Given the description of an element on the screen output the (x, y) to click on. 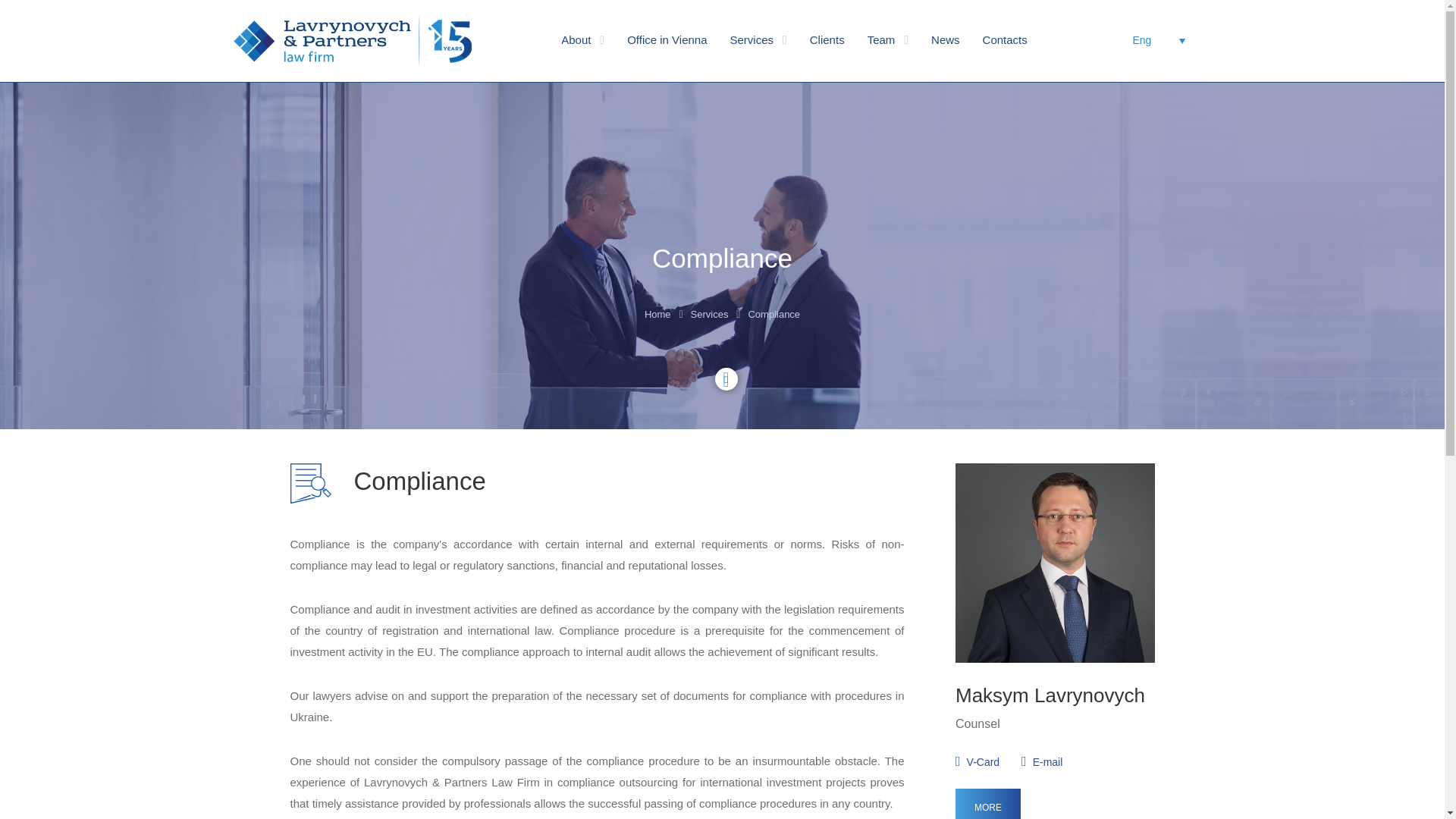
Services (752, 40)
Office in Vienna (666, 40)
About (575, 40)
Contacts (1004, 40)
Eng (1158, 39)
Clients (826, 40)
News (945, 40)
Team (881, 40)
